Given the description of an element on the screen output the (x, y) to click on. 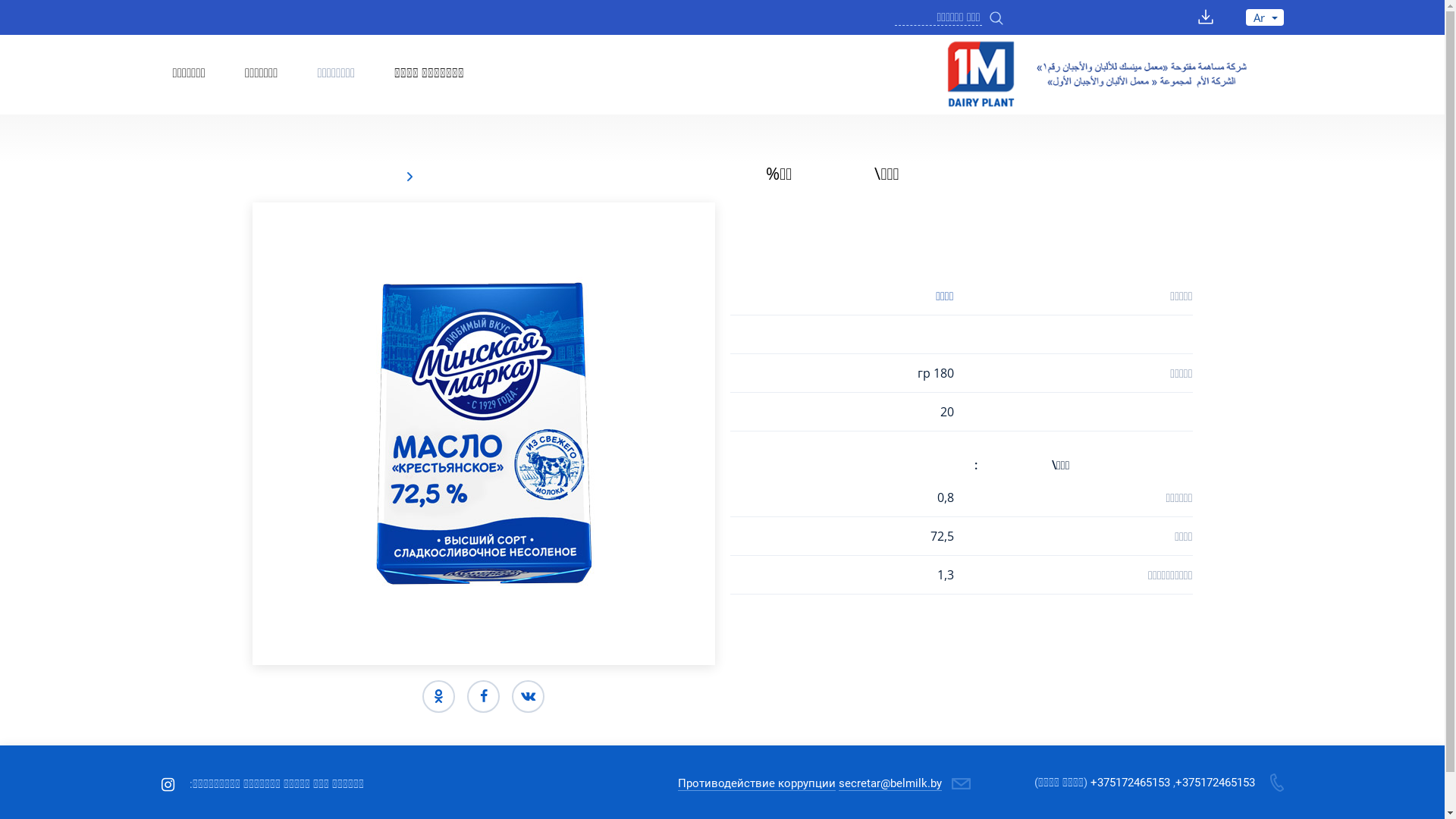
375172465153+ Element type: text (1130, 781)
Share on Facebook Element type: hover (483, 695)
375172465153+ Element type: text (1215, 781)
Ar Element type: text (1264, 17)
Share on OK Element type: hover (438, 695)
Share on VK Element type: hover (527, 695)
secretar@belmilk.by Element type: text (889, 783)
Instagram Element type: hover (166, 784)
